Given the description of an element on the screen output the (x, y) to click on. 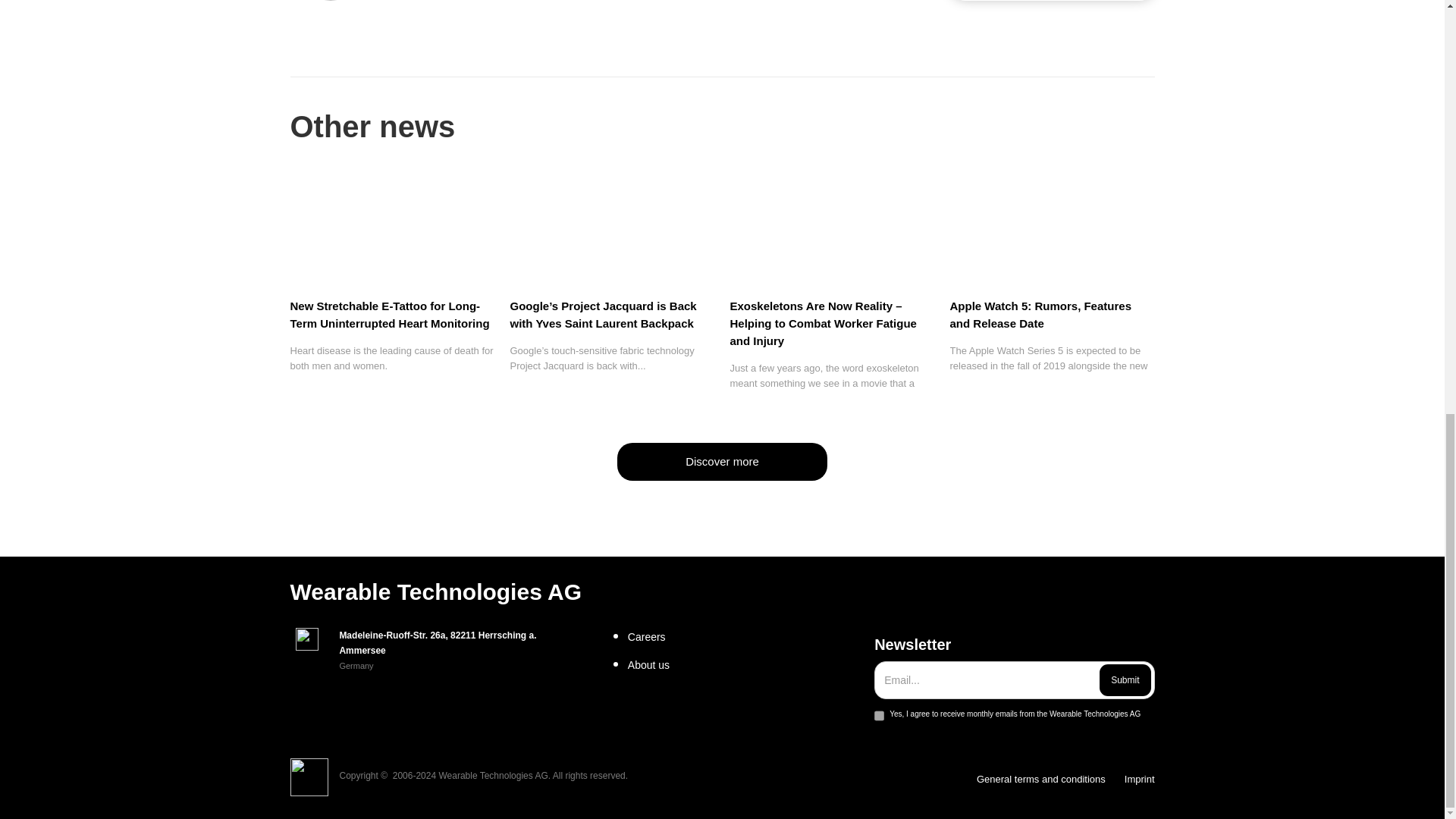
General terms and conditions (1040, 779)
Careers (744, 636)
About us (744, 664)
Discover more (722, 461)
Submit (1124, 680)
Imprint (1139, 779)
Submit (1124, 680)
